Given the description of an element on the screen output the (x, y) to click on. 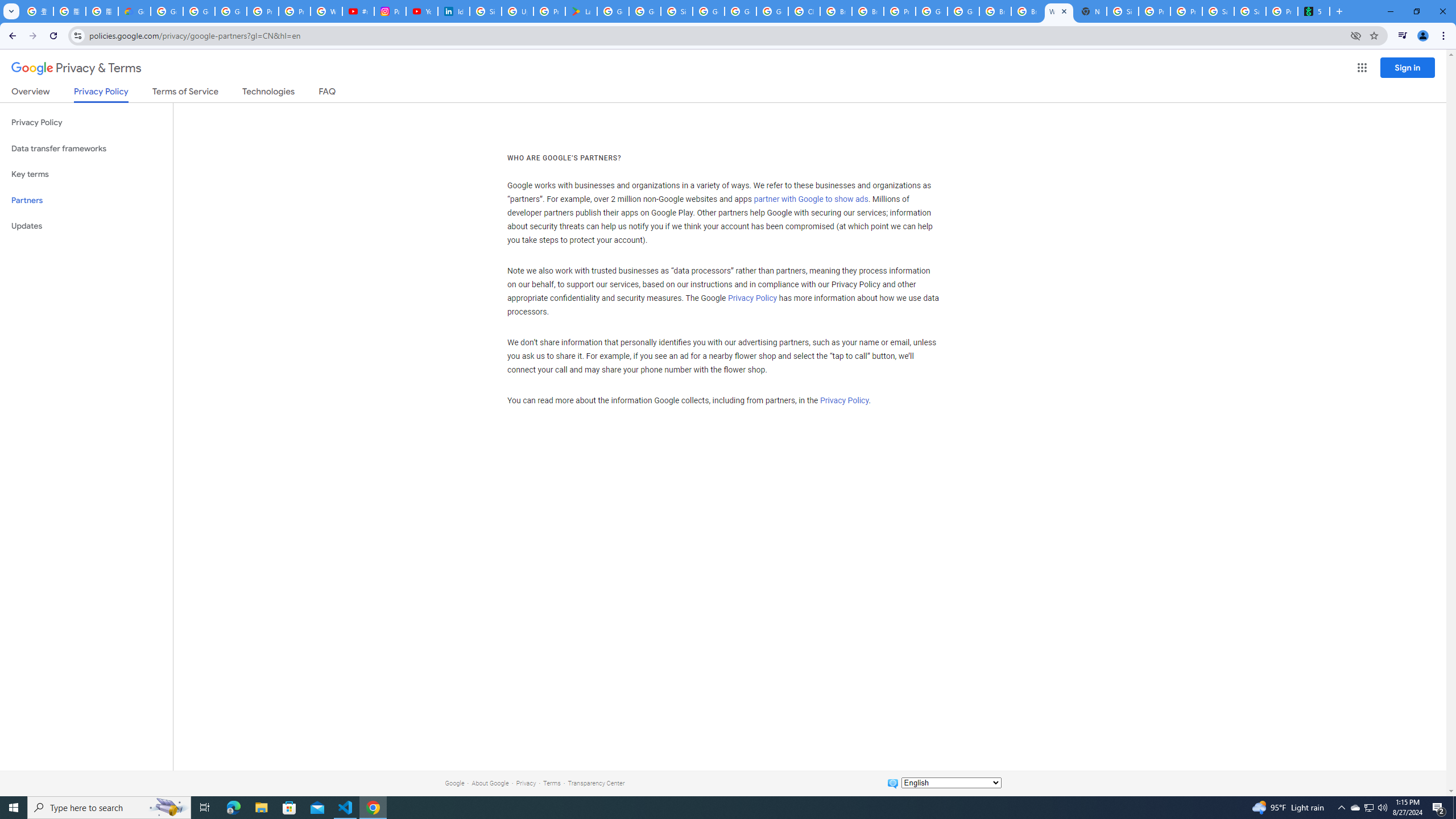
YouTube Culture & Trends - On The Rise: Handcam Videos (421, 11)
Sign in - Google Accounts (676, 11)
Privacy (525, 783)
Control your music, videos, and more (1402, 35)
Browse Chrome as a guest - Computer - Google Chrome Help (836, 11)
Browse Chrome as a guest - Computer - Google Chrome Help (995, 11)
